Given the description of an element on the screen output the (x, y) to click on. 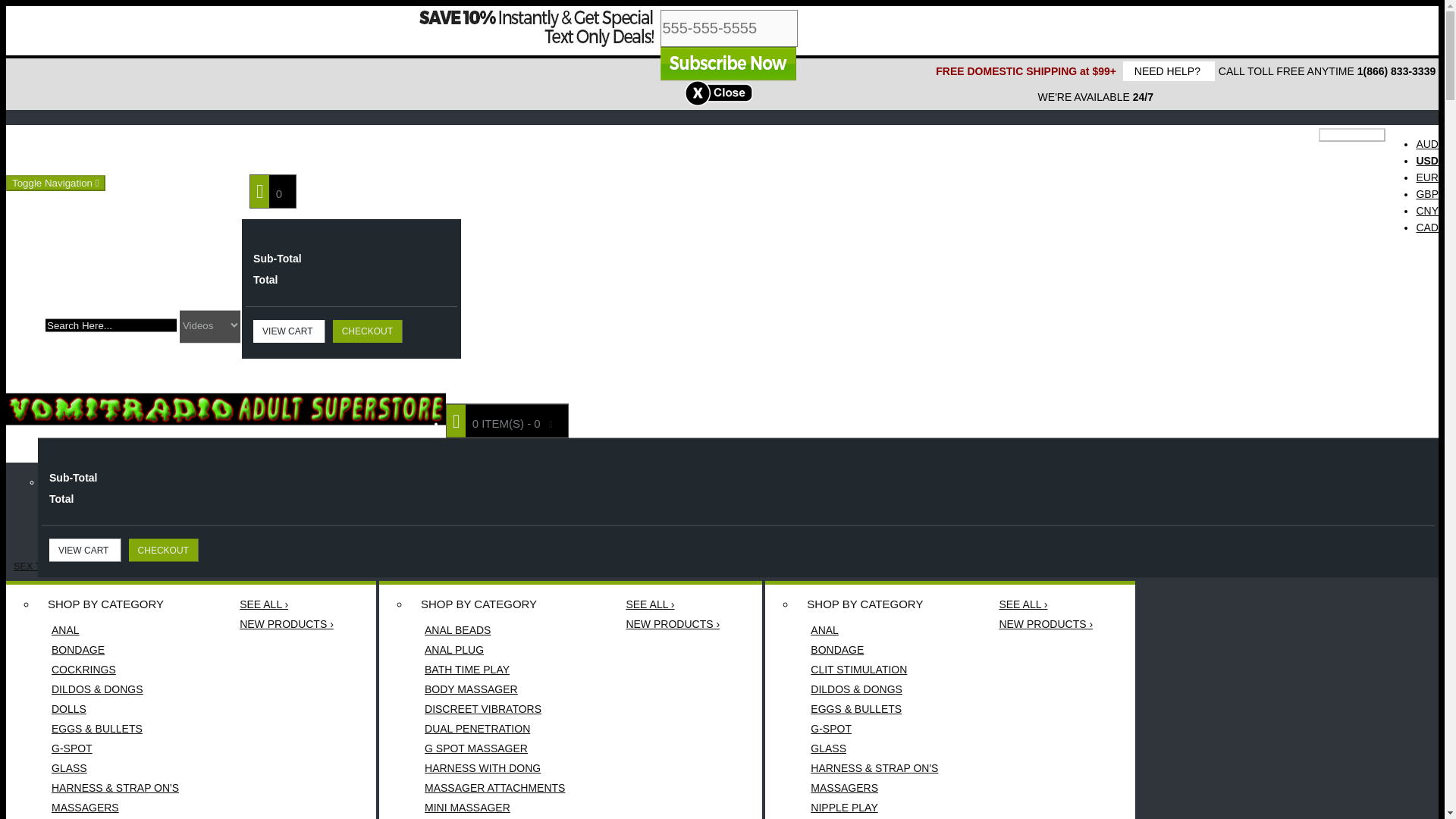
VIEW CART (288, 331)
CHECKOUT (368, 331)
Checkout (419, 149)
BONDAGE (114, 649)
Create Wishlist (133, 149)
CHECKOUT (163, 549)
G-SPOT (114, 748)
VomitRadio.inadult.com (225, 409)
Home (60, 149)
0 (272, 191)
ANAL (114, 629)
Toggle Navigation (54, 182)
Shopping Cart (339, 149)
MASSAGERS (114, 807)
Login (269, 149)
